Given the description of an element on the screen output the (x, y) to click on. 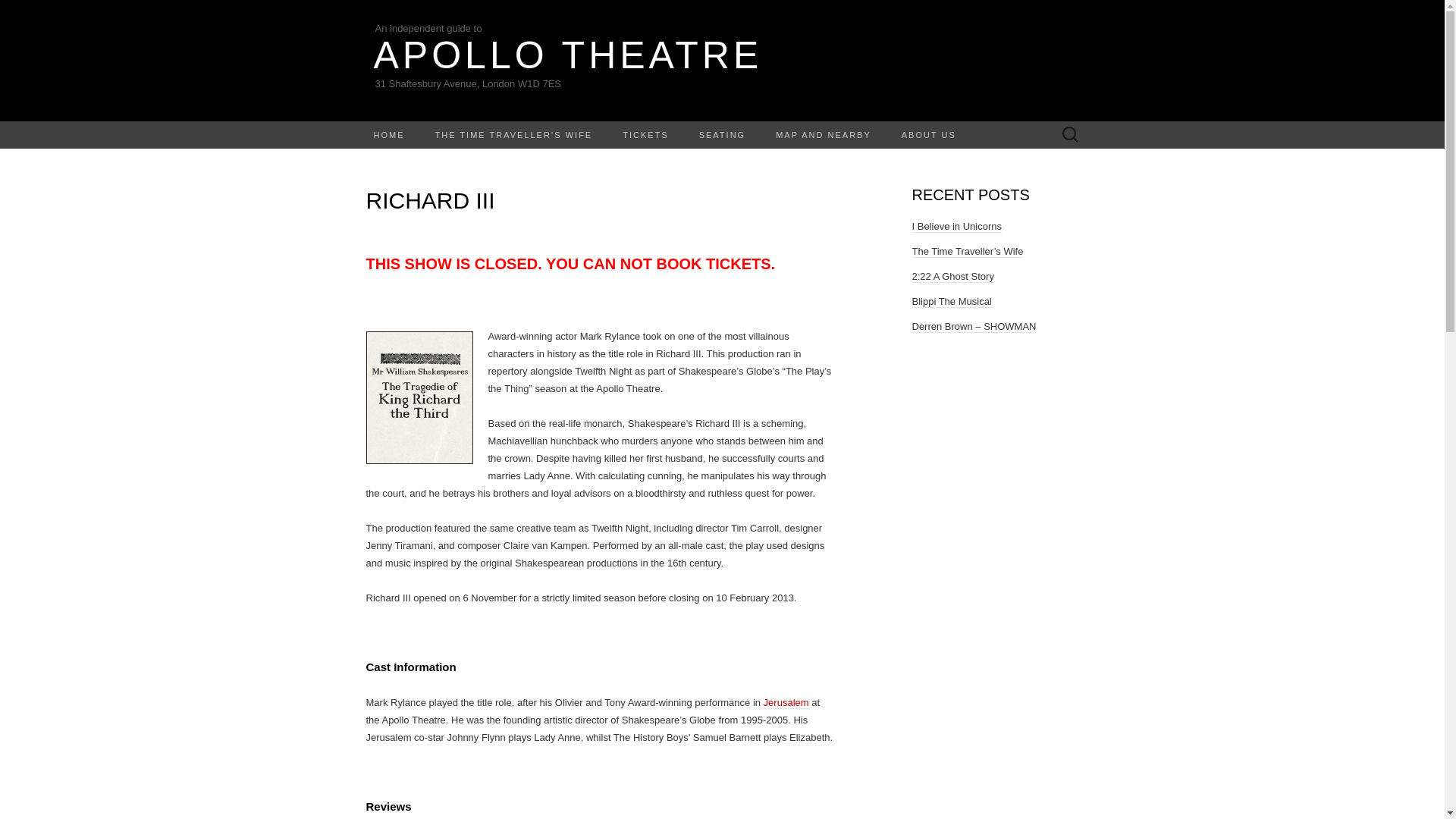
Search (16, 12)
I Believe in Unicorns (956, 226)
Jerusalem (785, 702)
ABOUT US (928, 134)
Apollo Theatre (722, 60)
SEATING (722, 134)
HOME (388, 134)
Blippi The Musical (951, 301)
TICKETS (644, 134)
2:22 A Ghost Story (951, 276)
MAP AND NEARBY (823, 134)
